Given the description of an element on the screen output the (x, y) to click on. 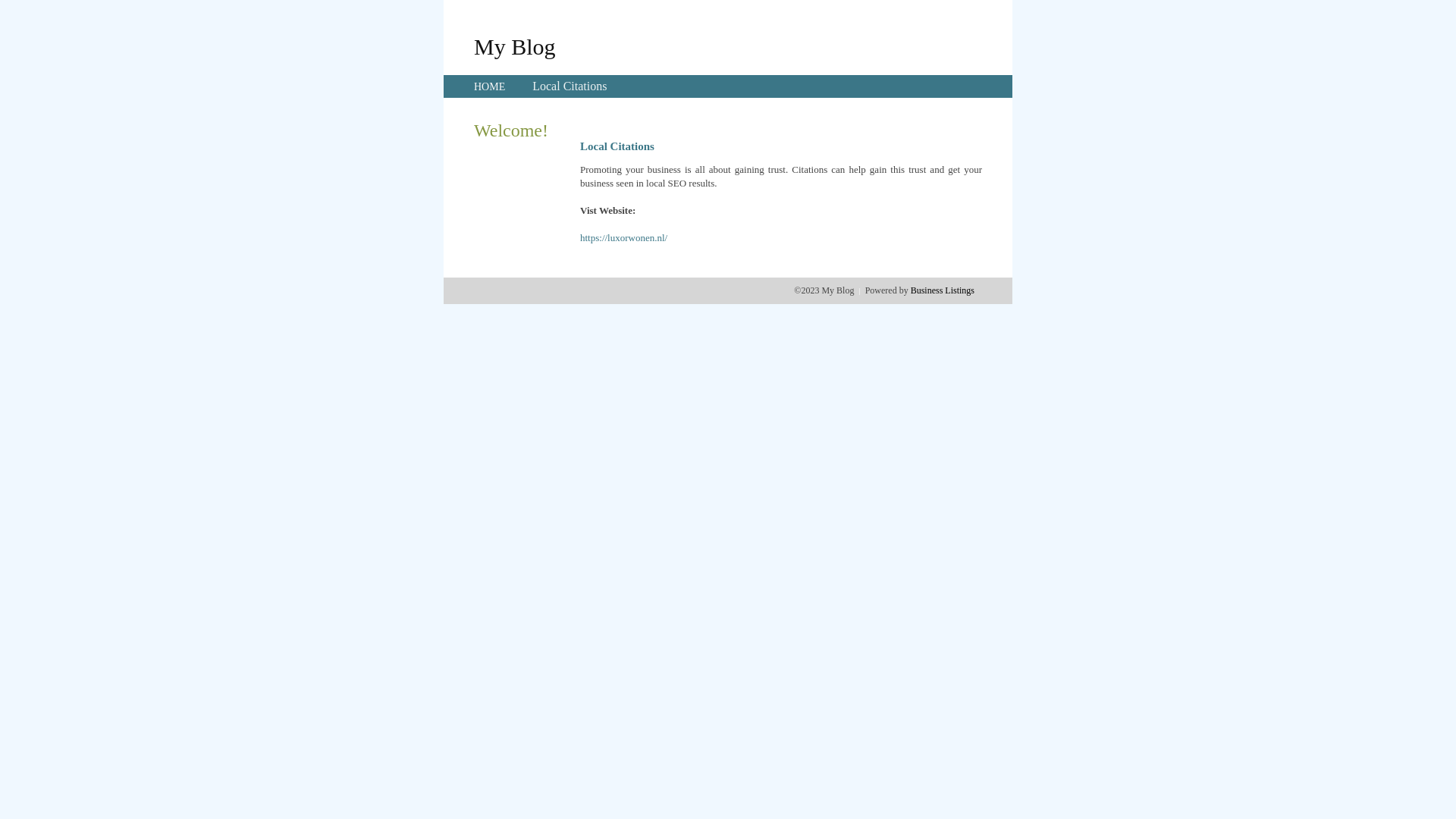
Local Citations Element type: text (569, 85)
Business Listings Element type: text (942, 290)
My Blog Element type: text (514, 46)
https://luxorwonen.nl/ Element type: text (623, 237)
HOME Element type: text (489, 86)
